Given the description of an element on the screen output the (x, y) to click on. 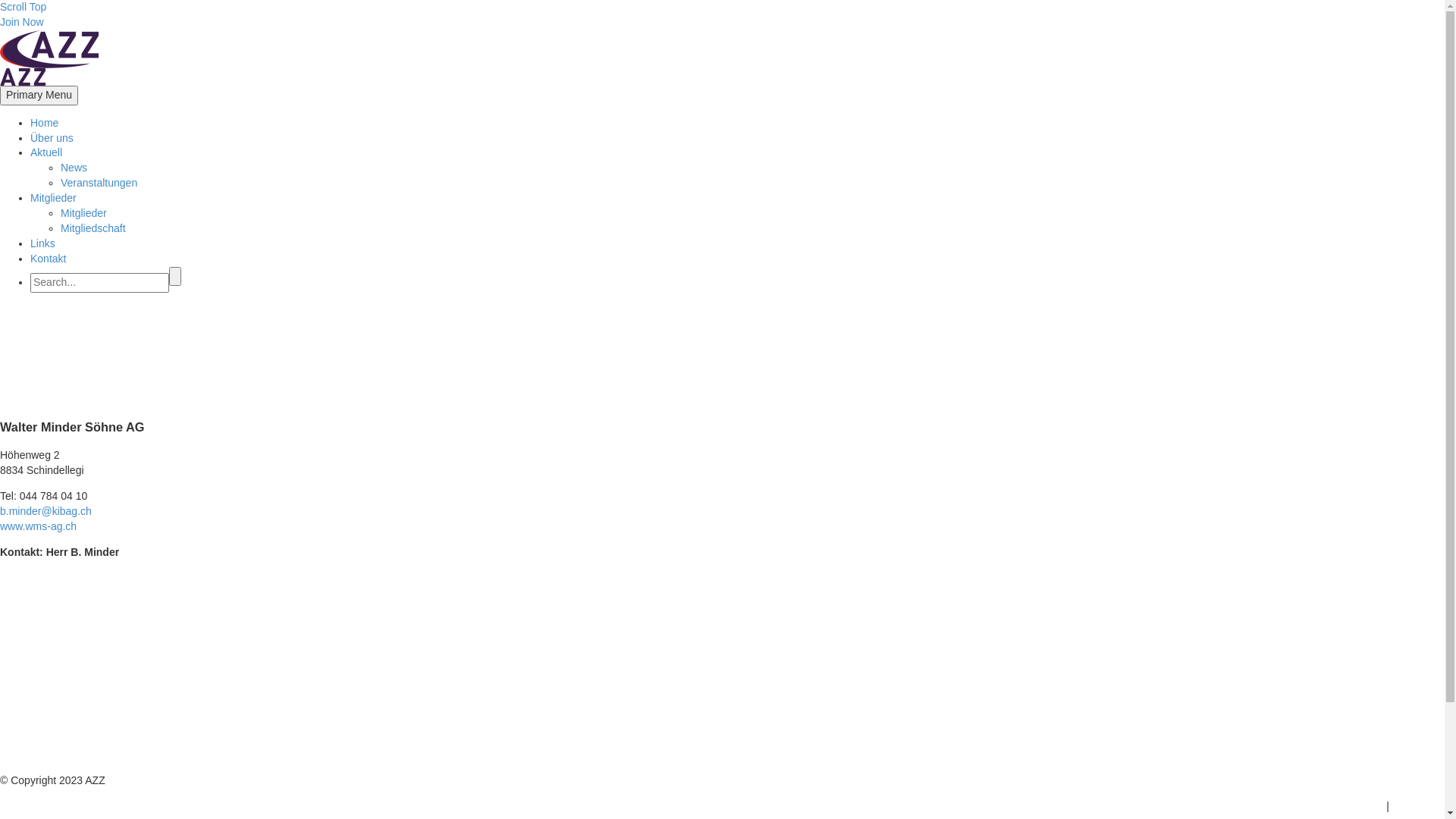
Veranstaltungen Element type: text (98, 182)
Home Element type: text (44, 122)
Primary Menu Element type: text (39, 95)
Aktuell Element type: text (46, 152)
Scroll Top Element type: text (23, 6)
b.minder@kibag.ch Element type: text (45, 511)
Impressum Element type: text (1418, 806)
Mitglieder Element type: text (83, 213)
Kontakt Element type: text (47, 258)
Mitgliedschaft Element type: text (92, 228)
Links Element type: text (42, 243)
Join Now Element type: text (21, 21)
News Element type: text (73, 167)
Mitglieder Element type: text (53, 197)
www.wms-ag.ch Element type: text (38, 526)
